Given the description of an element on the screen output the (x, y) to click on. 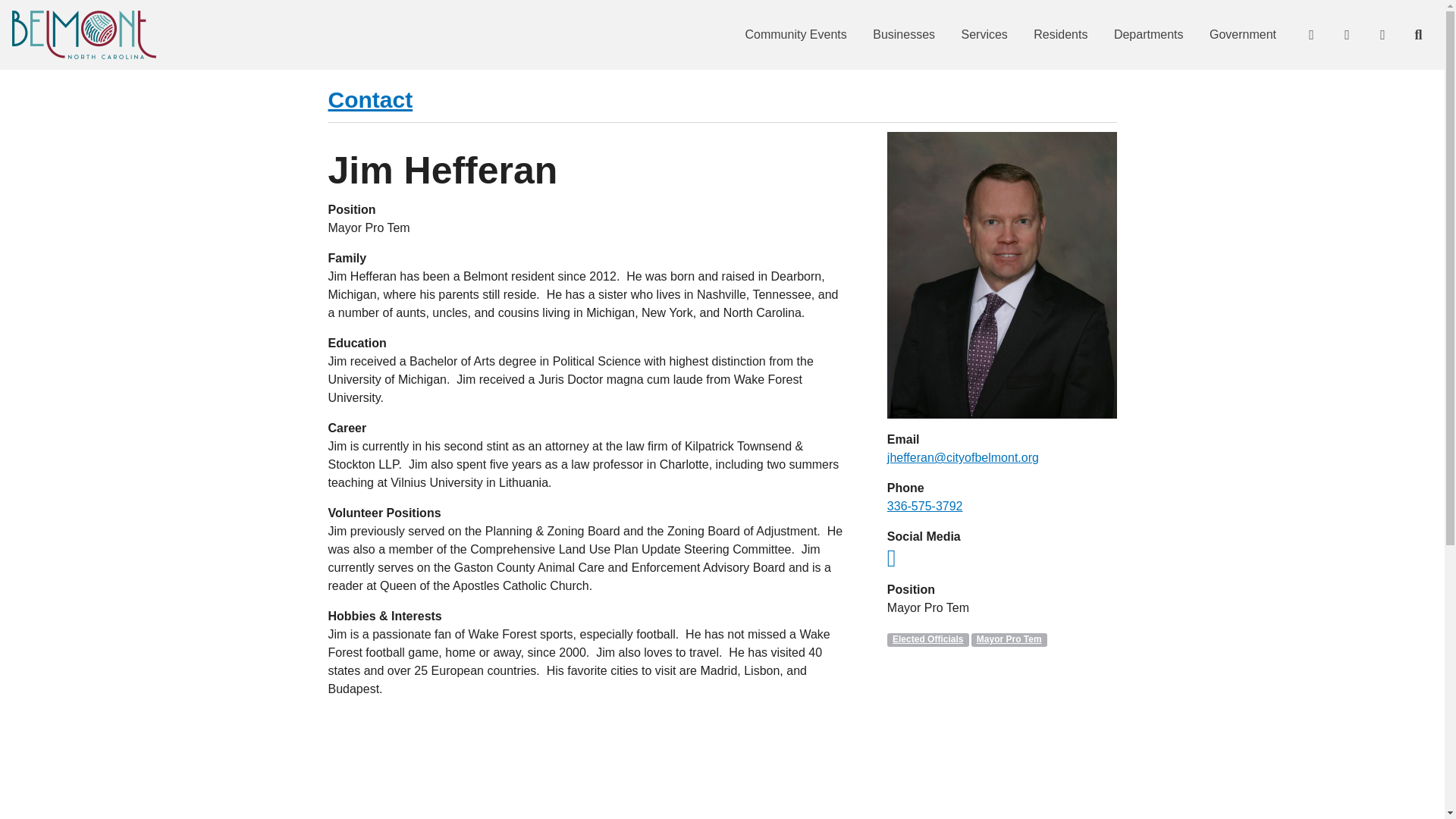
Payments (1345, 35)
Elected Officials (927, 640)
Businesses (903, 34)
Search (1417, 35)
Home (83, 34)
336-575-3792 (924, 505)
Search (1417, 35)
Report Issue (1381, 35)
Government (1242, 34)
Residents (1060, 34)
